Given the description of an element on the screen output the (x, y) to click on. 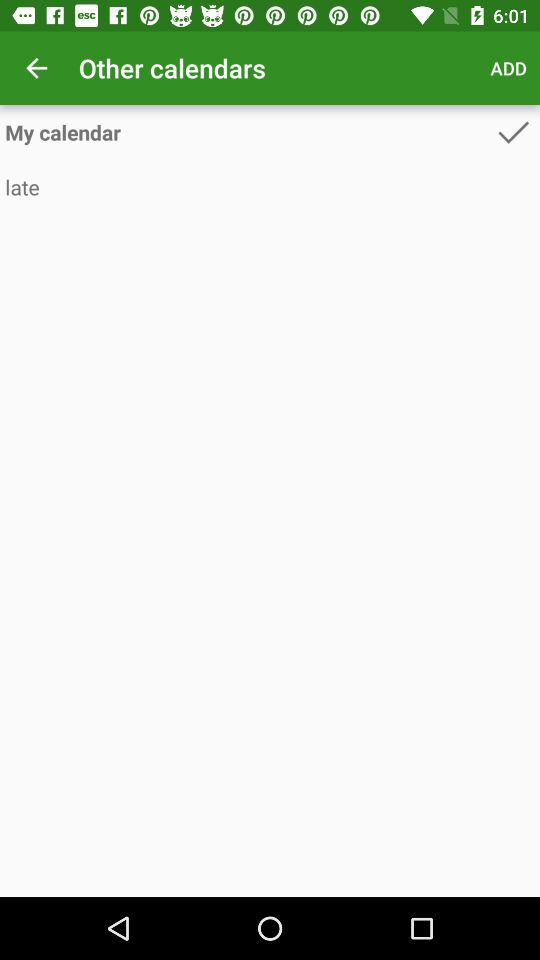
select icon below the add item (513, 132)
